Given the description of an element on the screen output the (x, y) to click on. 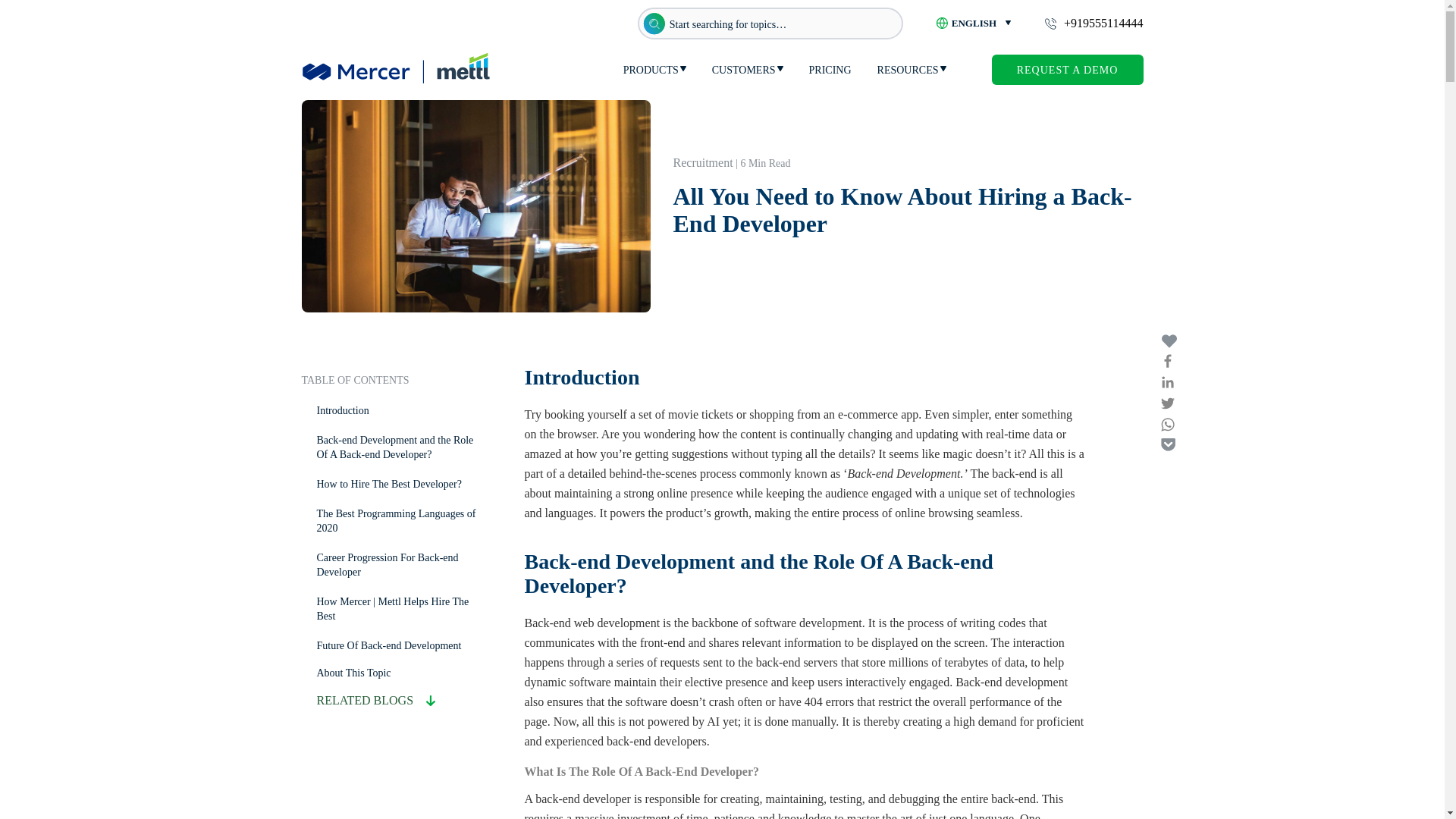
Introduction (343, 410)
Like (1167, 344)
The Best Programming Languages of 2020 (396, 520)
Future Of Back-end Development (389, 645)
How to Hire The Best Developer? (389, 483)
Back-end Development and the Role Of A Back-end Developer? (395, 447)
PRODUCTS (650, 70)
Career Progression For Back-end Developer (387, 565)
